Given the description of an element on the screen output the (x, y) to click on. 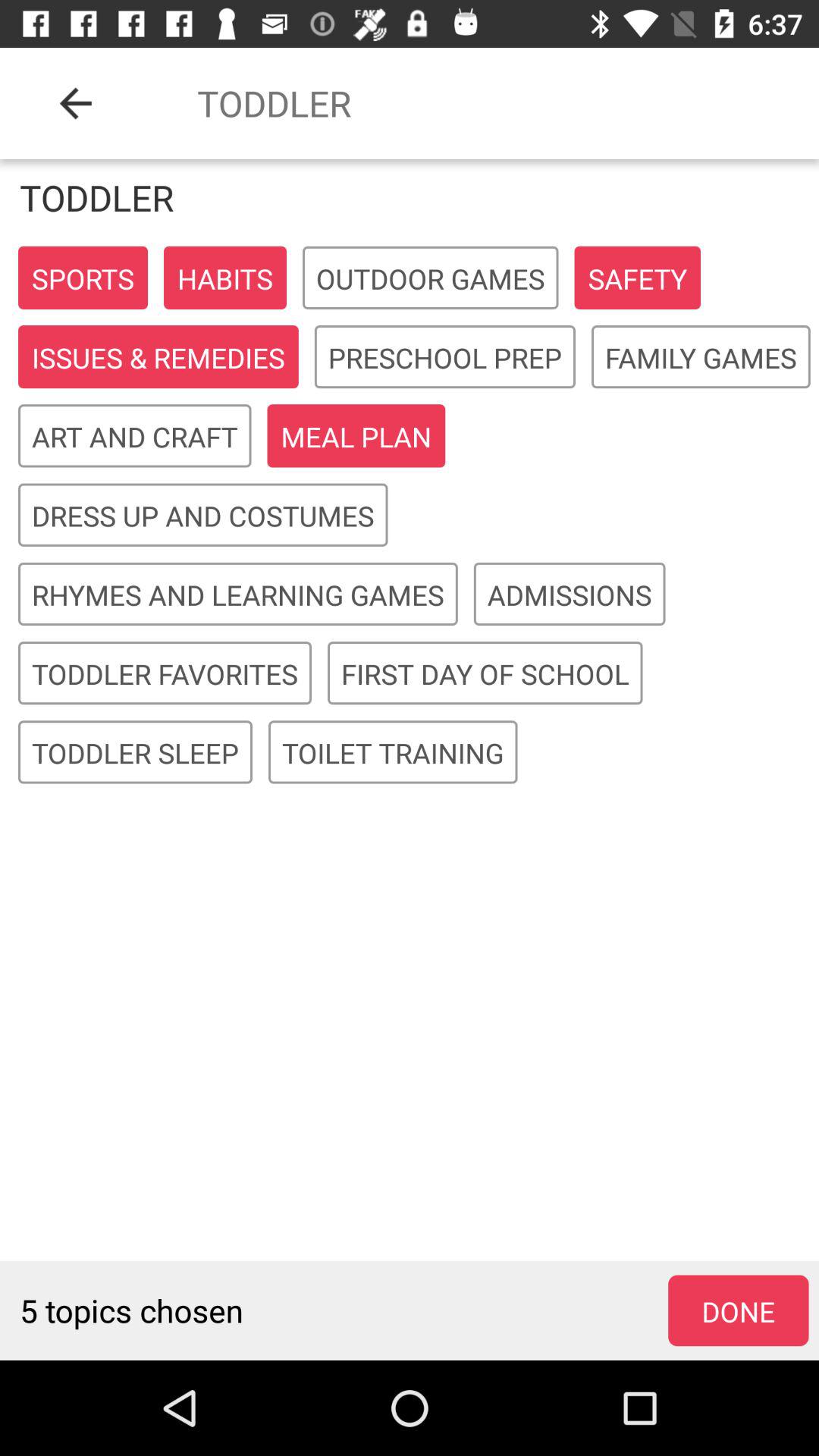
tap the item above dress up and (356, 436)
